Given the description of an element on the screen output the (x, y) to click on. 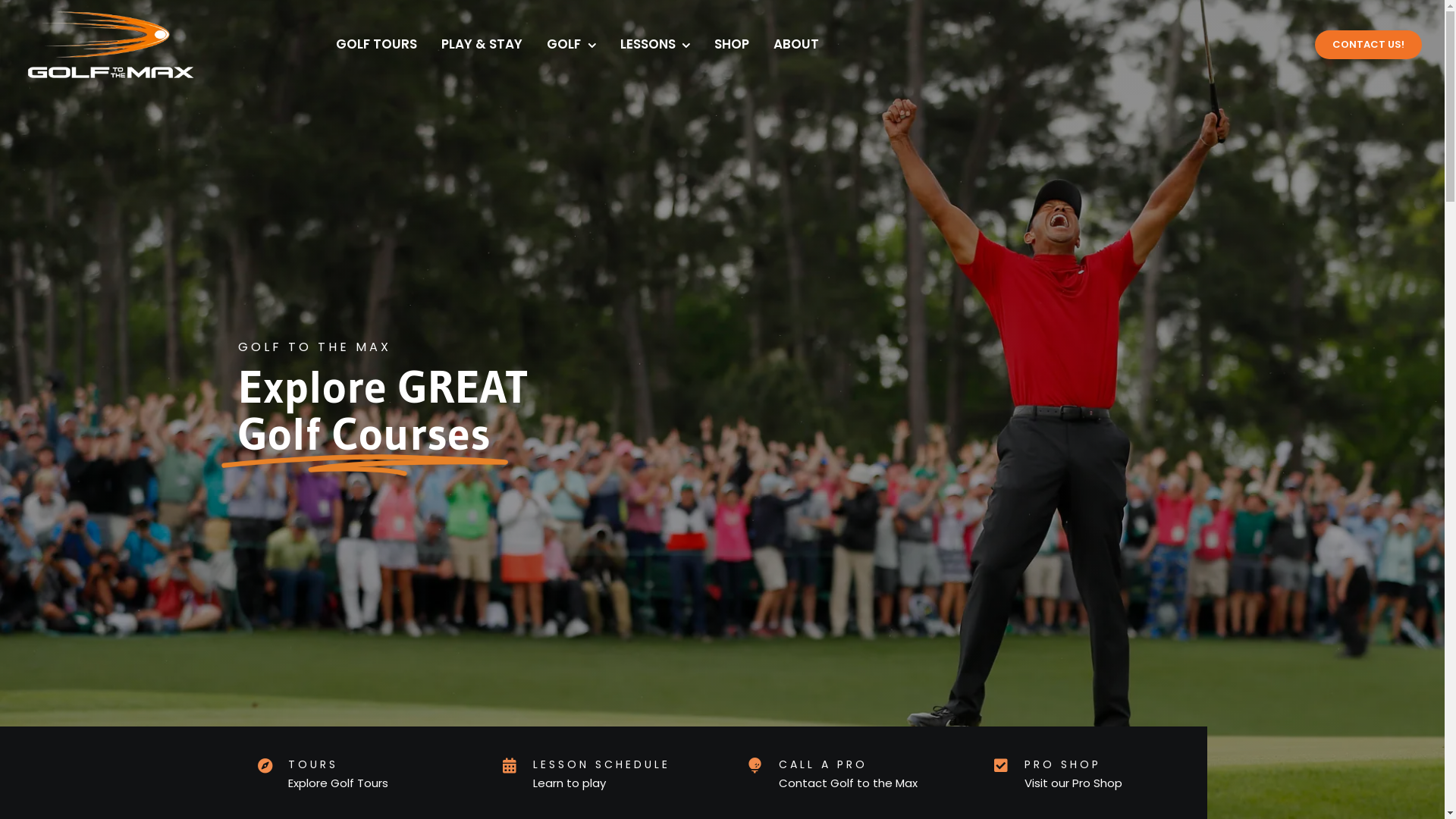
CONTACT US! Element type: text (1367, 44)
GOLF Element type: text (571, 44)
PLAY & STAY Element type: text (481, 44)
SHOP Element type: text (731, 44)
GOLF TOURS Element type: text (376, 44)
ABOUT Element type: text (796, 44)
LESSONS Element type: text (655, 44)
